Given the description of an element on the screen output the (x, y) to click on. 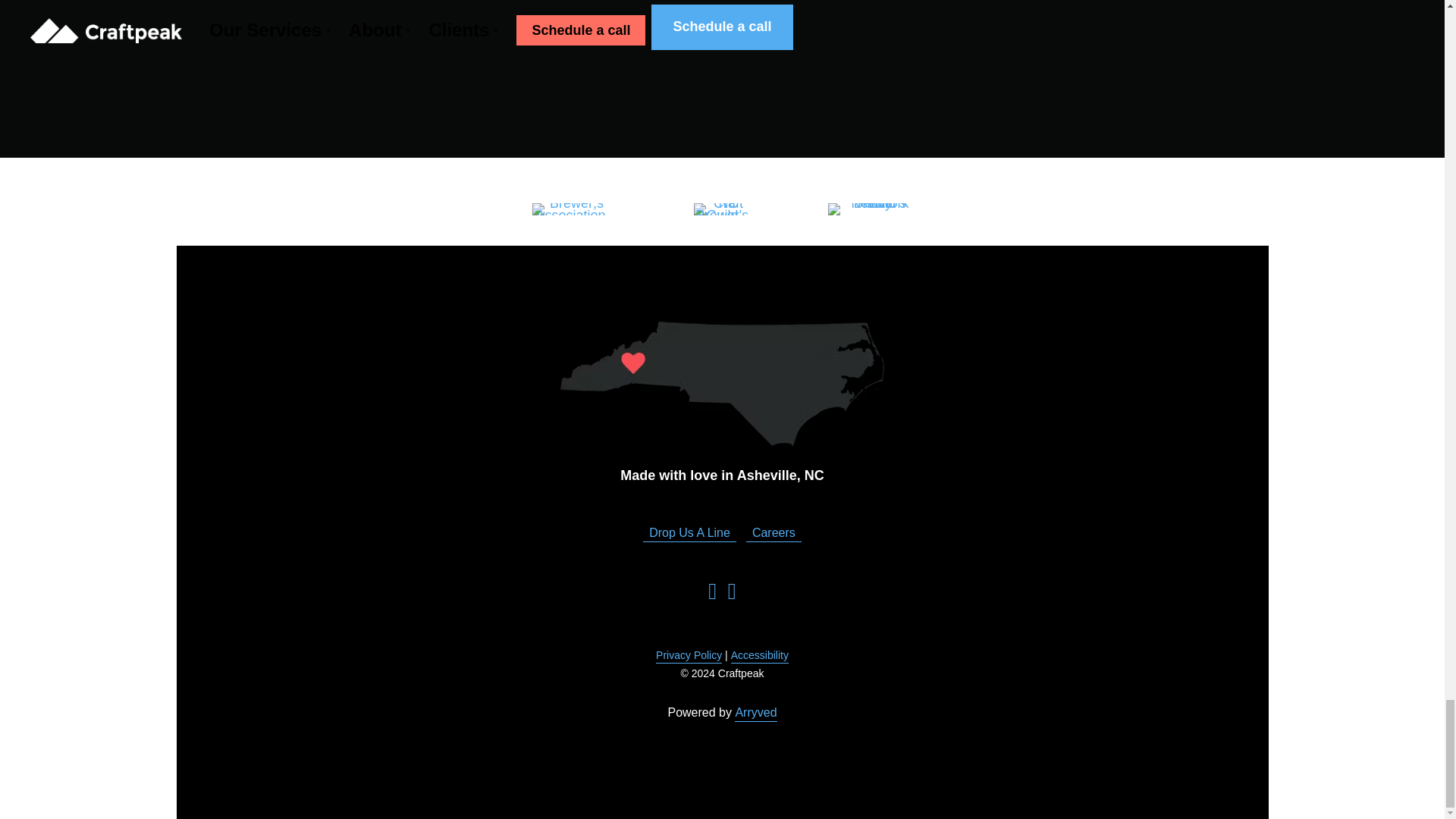
Drop Us A Line (689, 533)
Arryved (755, 712)
Privacy Policy (689, 655)
Careers (773, 533)
Made with love in Asheville, NC (721, 383)
brewersassociation (570, 209)
Accessibility (759, 655)
NYC-brewers-guild (873, 209)
